Given the description of an element on the screen output the (x, y) to click on. 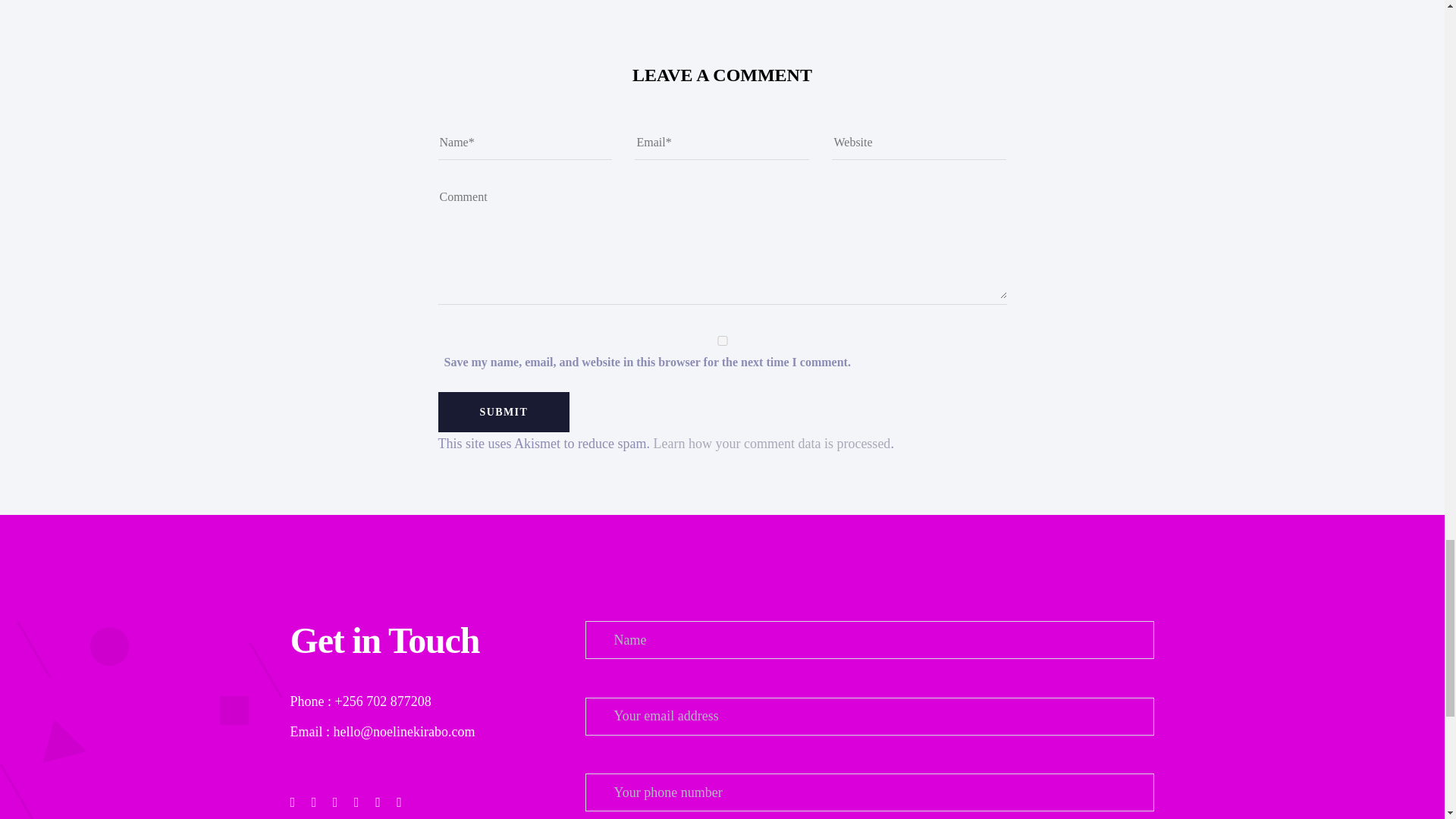
Submit (504, 412)
yes (722, 340)
Submit (504, 412)
Learn how your comment data is processed (770, 443)
